Given the description of an element on the screen output the (x, y) to click on. 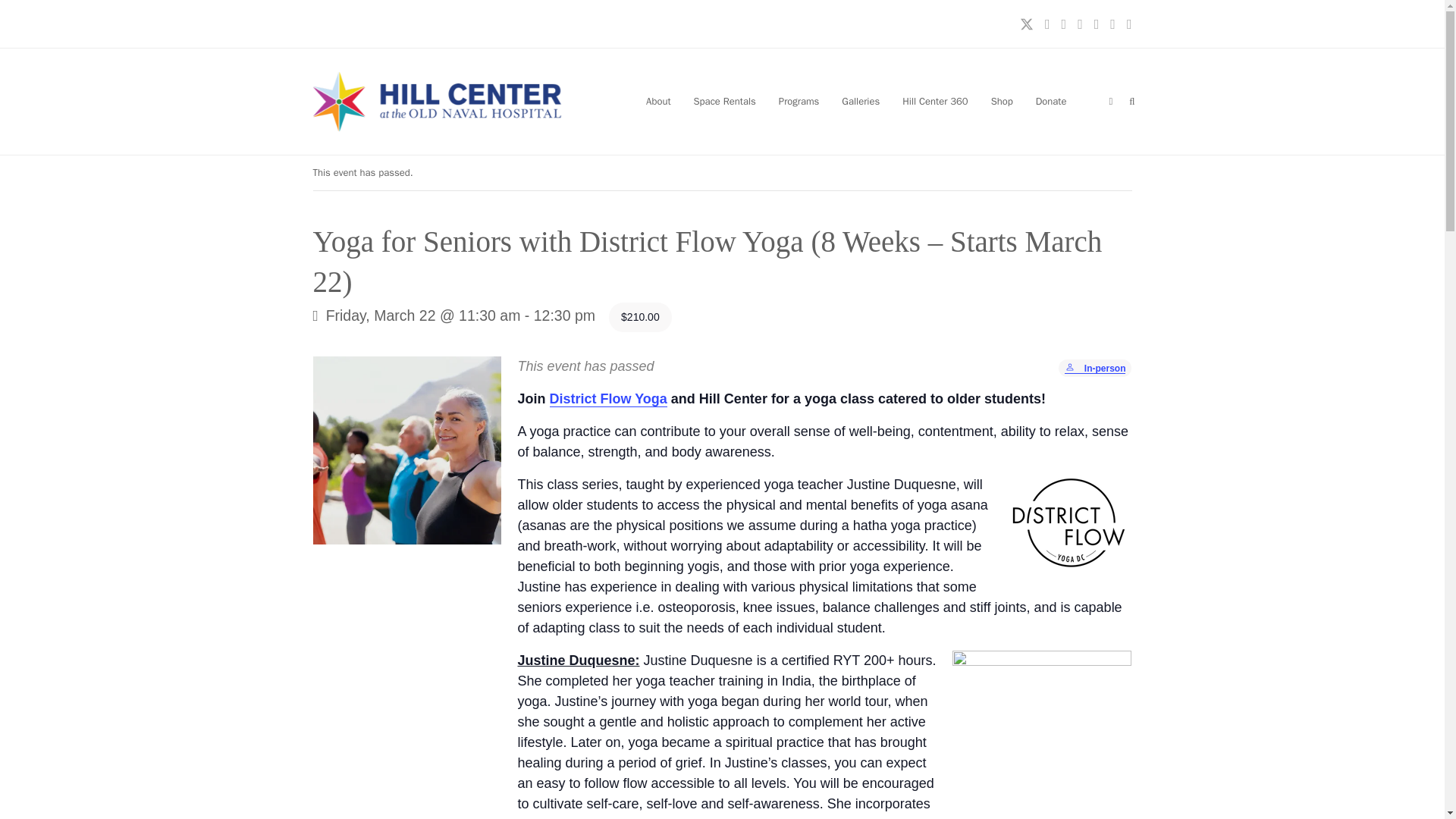
Space Rentals (724, 101)
Programs (799, 101)
About (657, 101)
In-person Events (1071, 368)
Hill Center 360 (934, 101)
Donate (1051, 101)
Galleries (860, 101)
Shop (1002, 101)
